Given the description of an element on the screen output the (x, y) to click on. 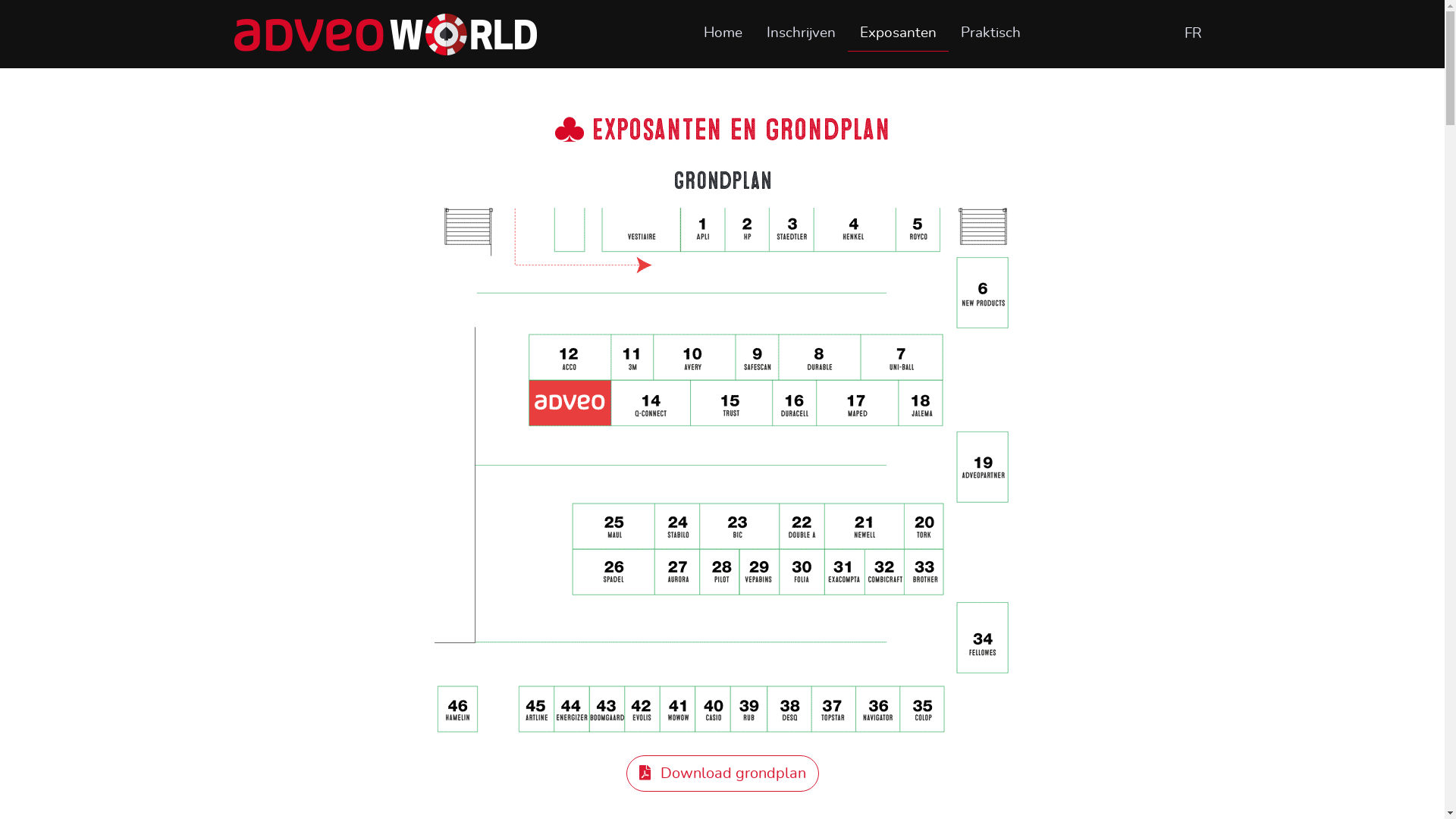
Praktisch Element type: text (990, 33)
Exposanten Element type: text (897, 33)
Inschrijven Element type: text (800, 33)
Home Element type: text (722, 33)
Download grondplan Element type: text (722, 773)
FR Element type: text (1193, 34)
